Given the description of an element on the screen output the (x, y) to click on. 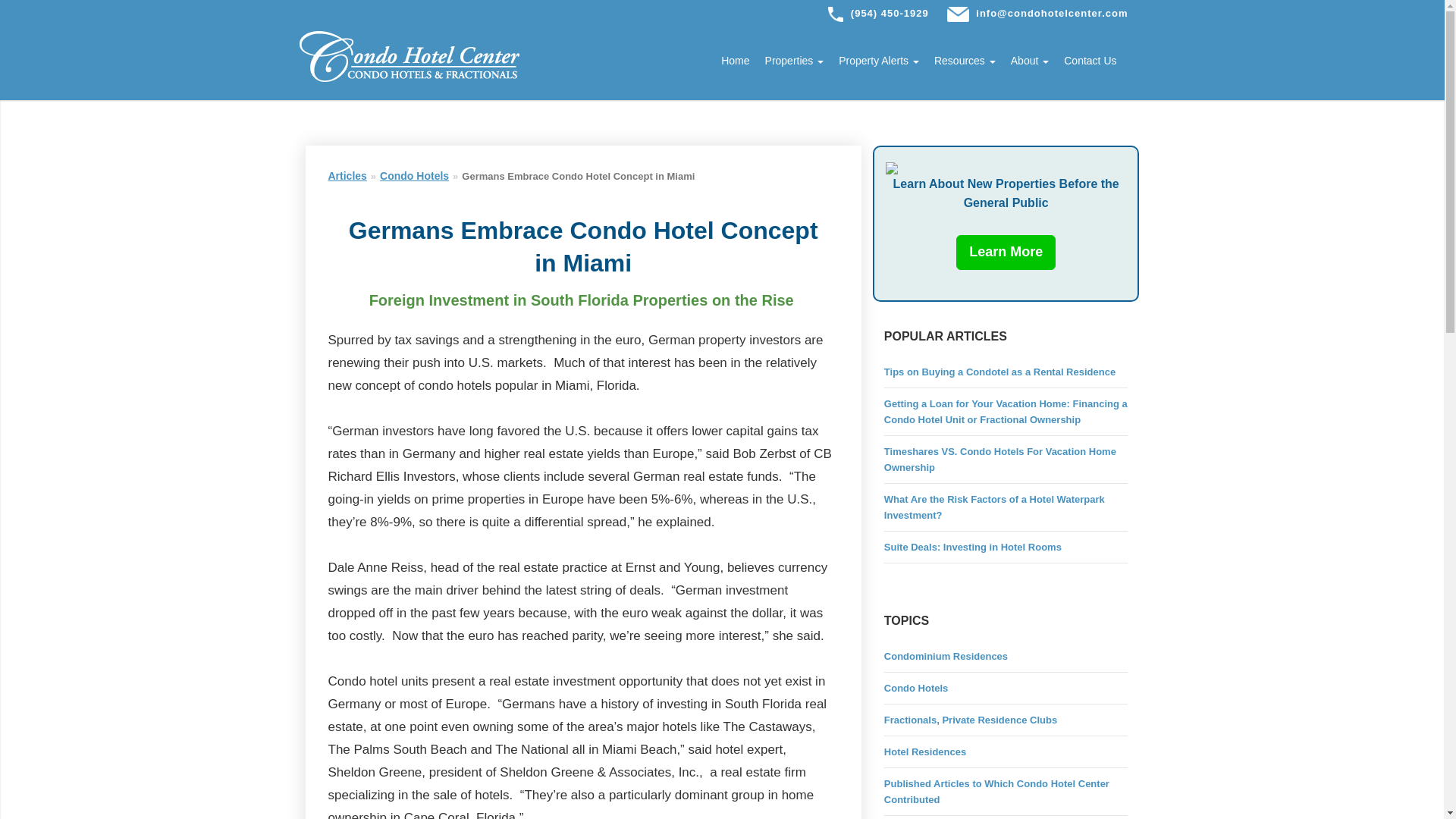
Tips on Buying a Condotel as a Rental Residence (999, 371)
Resources (956, 60)
Property Alerts (871, 60)
About (1021, 60)
Home (727, 60)
Condo Hotels (414, 175)
Learn More (1005, 252)
Properties (786, 60)
Articles (346, 175)
Contact Us (1082, 60)
